Given the description of an element on the screen output the (x, y) to click on. 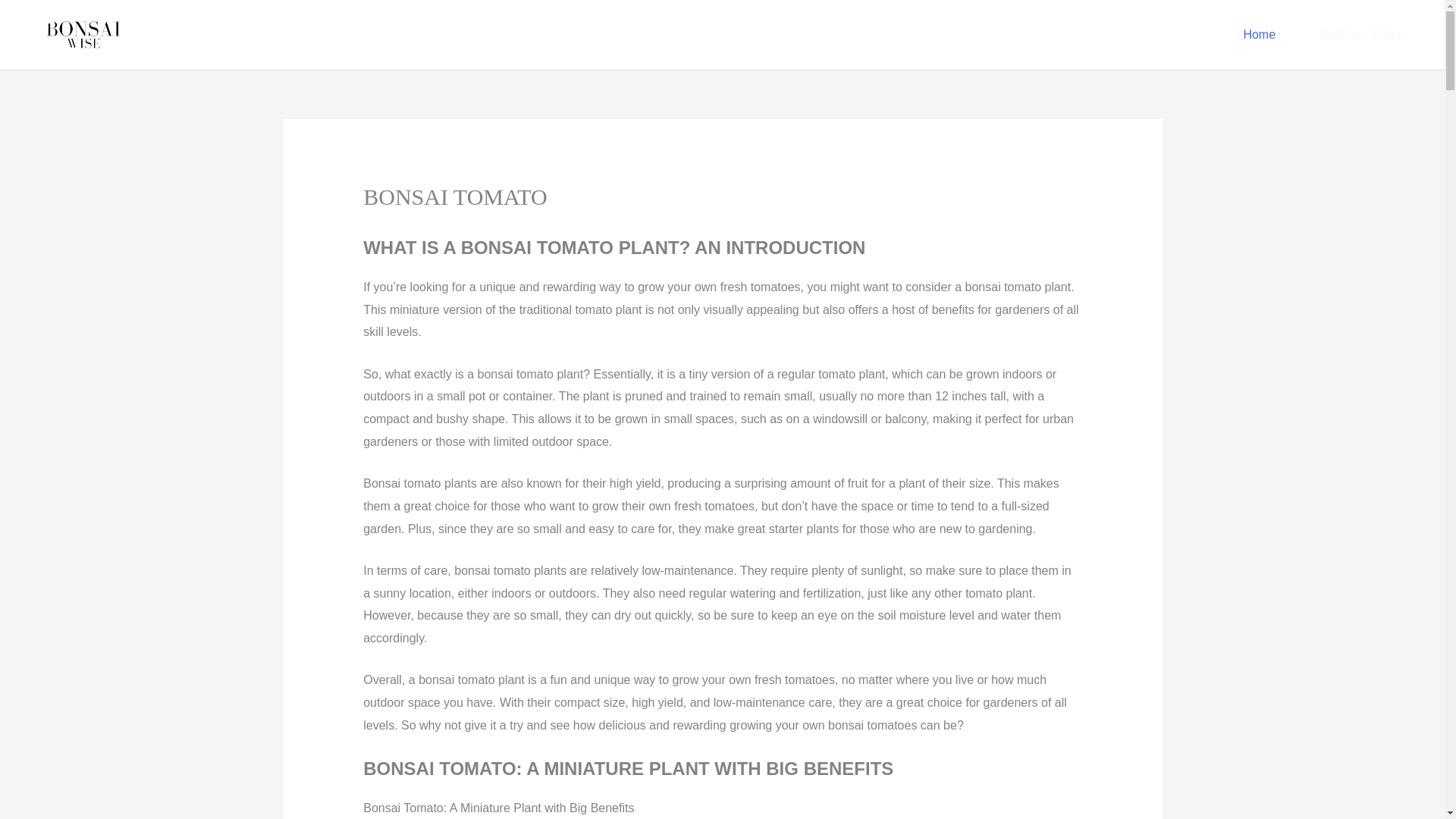
Home (1258, 34)
ENROLL TODAY (1366, 34)
